Given the description of an element on the screen output the (x, y) to click on. 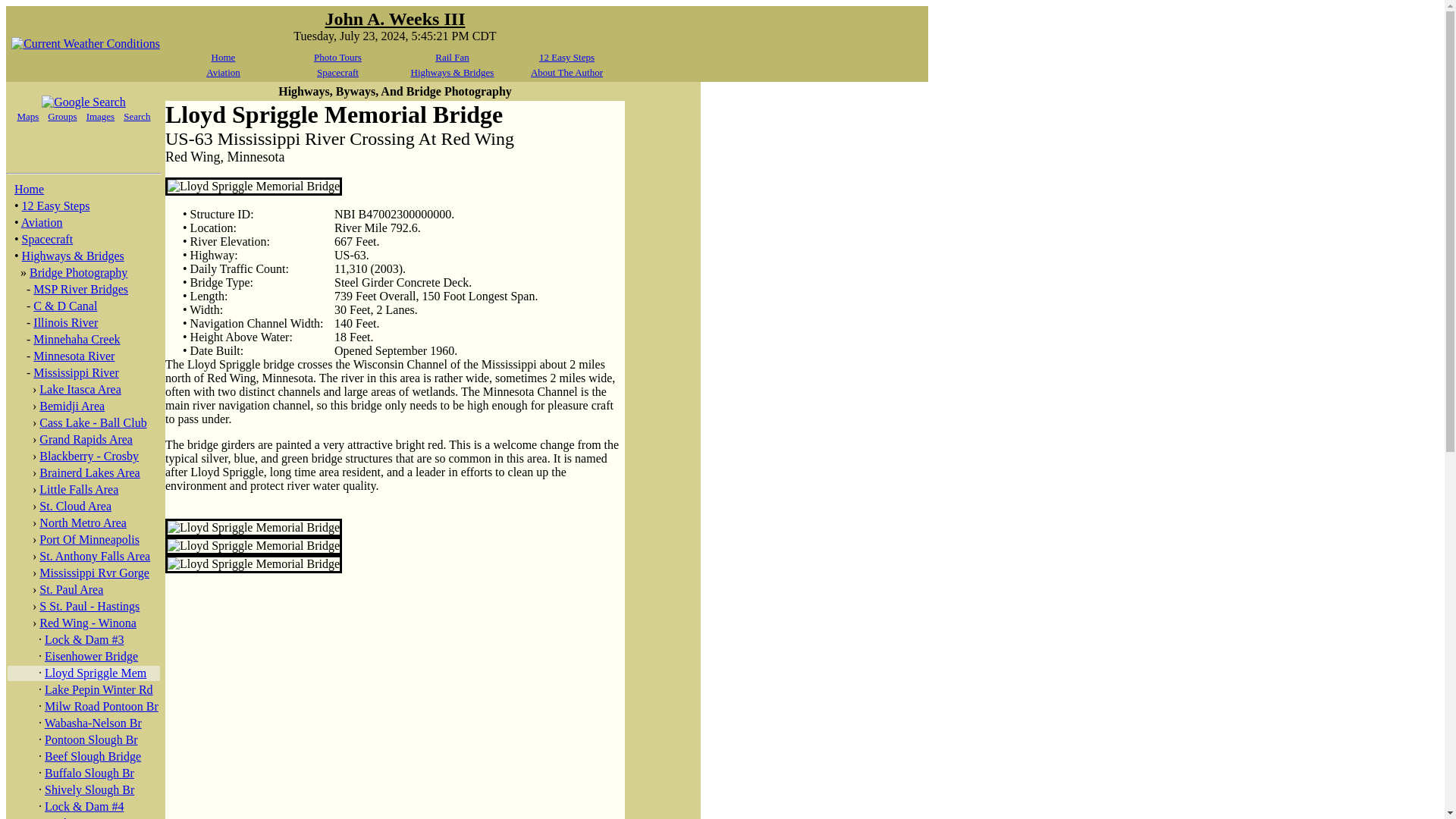
Groups (62, 116)
Mississippi River (75, 372)
Home (223, 57)
Spacecraft (337, 71)
MSP River Bridges (80, 288)
St. Cloud Area (75, 505)
Bemidji Area (71, 405)
Rail Fan (451, 57)
Maps (27, 116)
Bridge Photography (78, 272)
Photo Tours (337, 57)
Blackberry - Crosby (88, 455)
Port Of Minneapolis (89, 539)
Cass Lake - Ball Club (93, 422)
Images (100, 116)
